Given the description of an element on the screen output the (x, y) to click on. 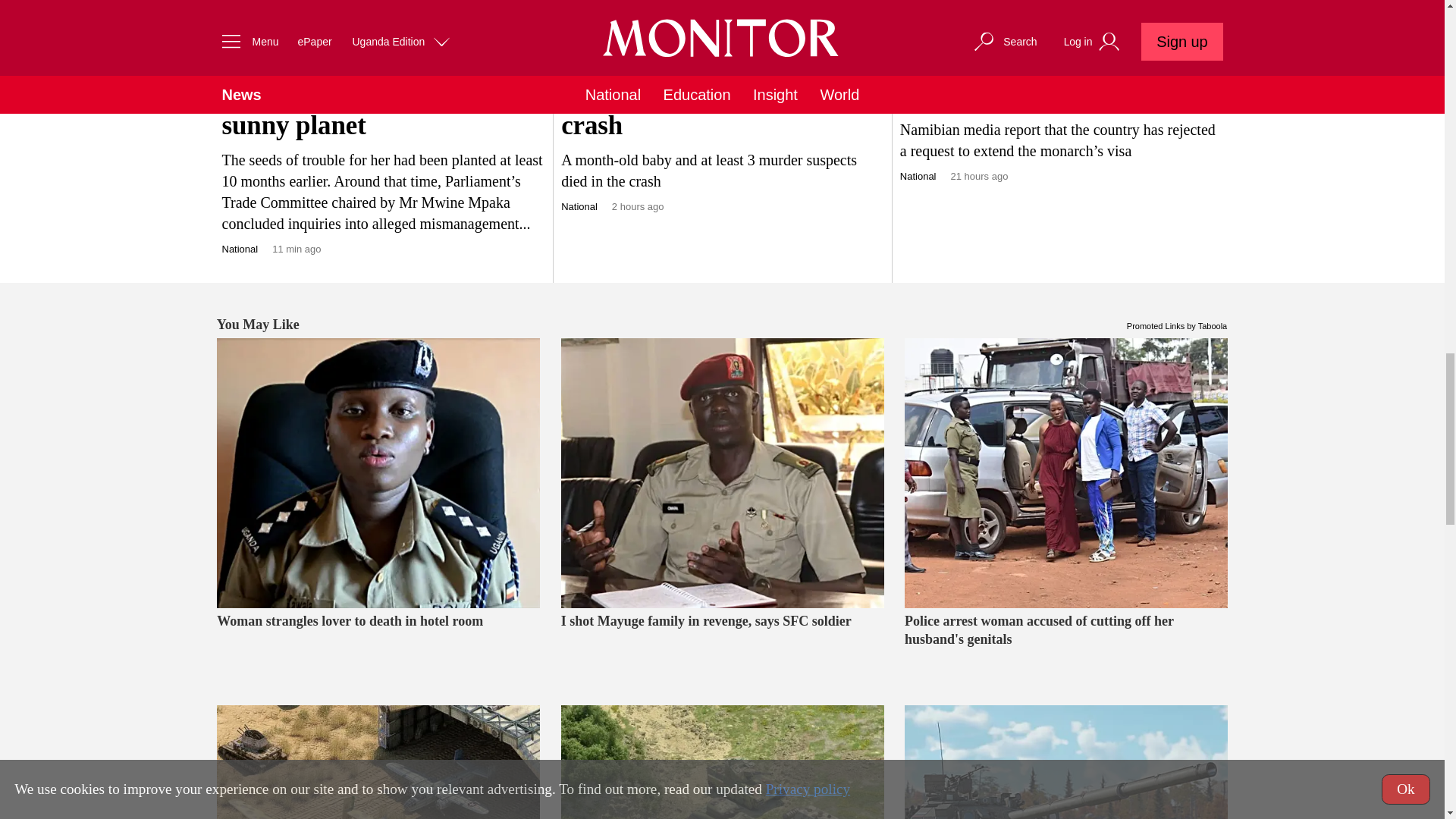
Woman strangles lover to death in hotel room (378, 472)
I shot Mayuge family in revenge, says SFC soldier (721, 647)
I shot Mayuge family in revenge, says SFC soldier (721, 472)
Woman strangles lover to death in hotel room (378, 647)
PRIME (238, 63)
